Given the description of an element on the screen output the (x, y) to click on. 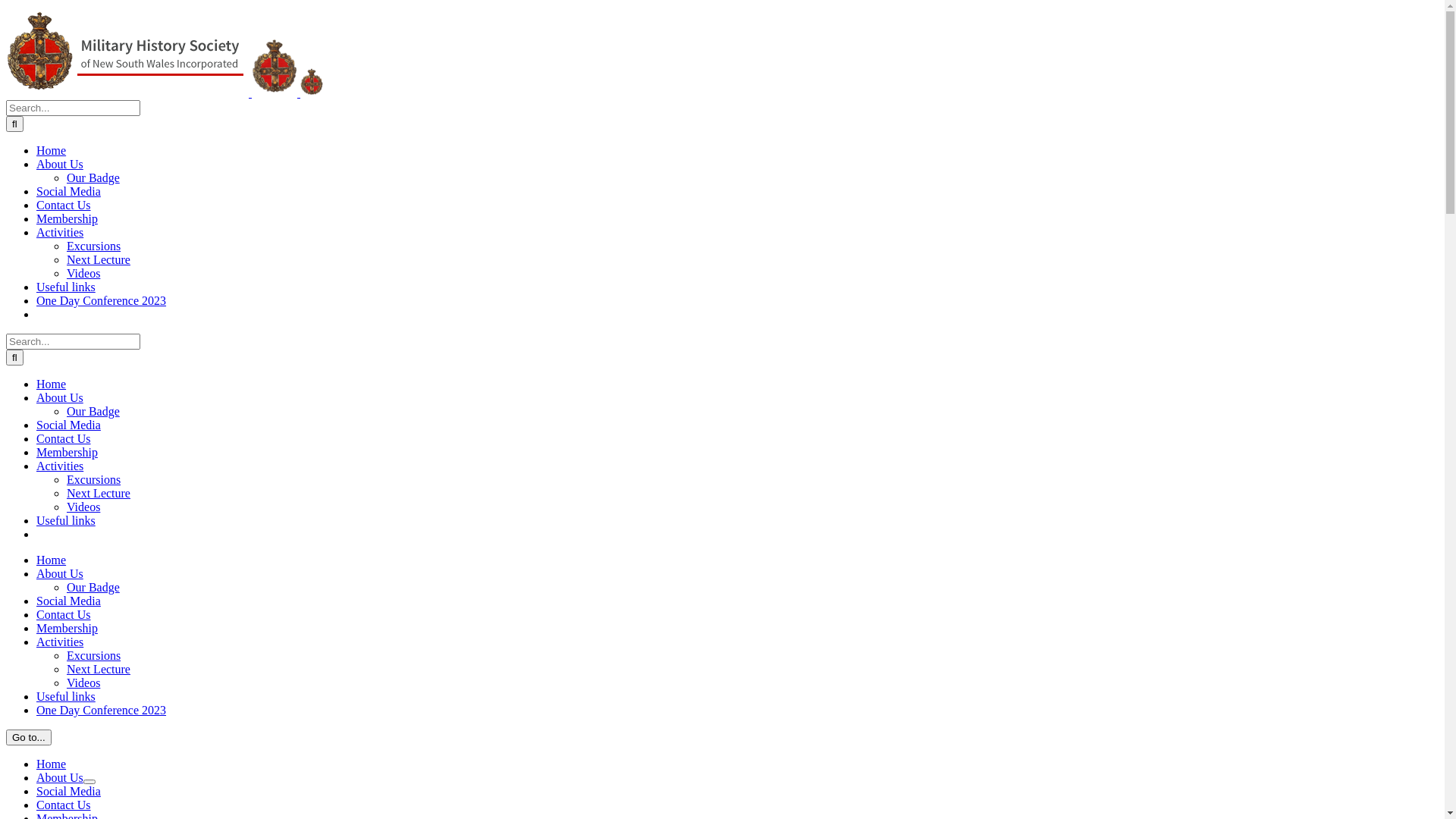
Home Element type: text (50, 383)
Videos Element type: text (83, 682)
Membership Element type: text (66, 451)
One Day Conference 2023 Element type: text (101, 709)
Videos Element type: text (83, 272)
Membership Element type: text (66, 627)
Activities Element type: text (59, 641)
Home Element type: text (50, 559)
Home Element type: text (50, 763)
Contact Us Element type: text (63, 204)
Activities Element type: text (59, 465)
Useful links Element type: text (65, 696)
Next Lecture Element type: text (98, 259)
Membership Element type: text (66, 218)
Social Media Element type: text (68, 600)
One Day Conference 2023 Element type: text (101, 300)
Videos Element type: text (83, 506)
Contact Us Element type: text (63, 438)
Useful links Element type: text (65, 520)
Excursions Element type: text (93, 655)
Social Media Element type: text (68, 191)
Next Lecture Element type: text (98, 492)
Home Element type: text (50, 150)
Contact Us Element type: text (63, 614)
Our Badge Element type: text (92, 410)
Activities Element type: text (59, 231)
Social Media Element type: text (68, 790)
Our Badge Element type: text (92, 177)
About Us Element type: text (59, 573)
Next Lecture Element type: text (98, 668)
Skip to content Element type: text (5, 5)
About Us Element type: text (59, 777)
About Us Element type: text (59, 397)
Useful links Element type: text (65, 286)
Excursions Element type: text (93, 479)
Go to... Element type: text (28, 737)
Excursions Element type: text (93, 245)
Social Media Element type: text (68, 424)
About Us Element type: text (59, 163)
Our Badge Element type: text (92, 586)
Contact Us Element type: text (63, 804)
